Given the description of an element on the screen output the (x, y) to click on. 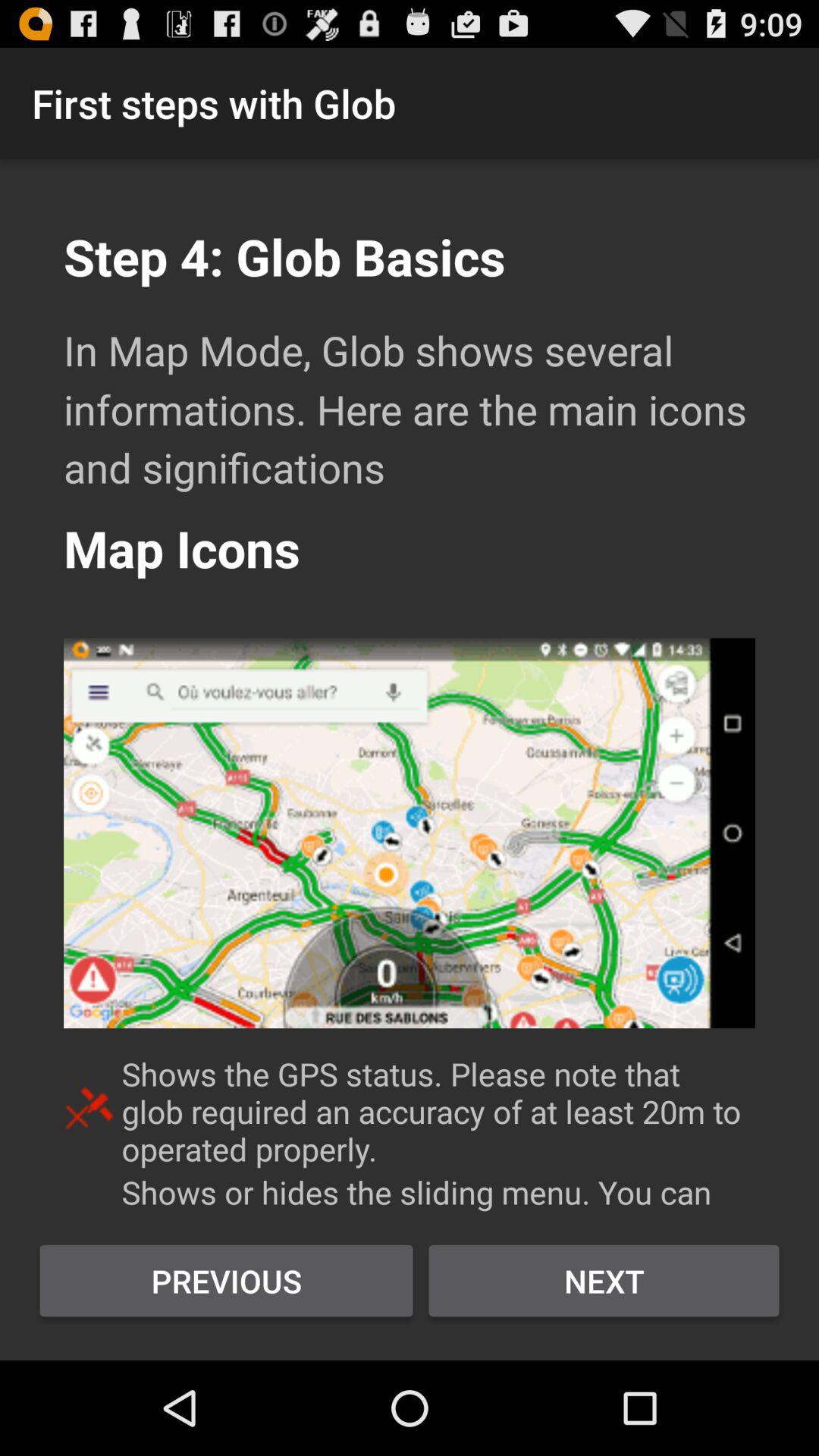
turn on the item next to the next icon (225, 1280)
